Given the description of an element on the screen output the (x, y) to click on. 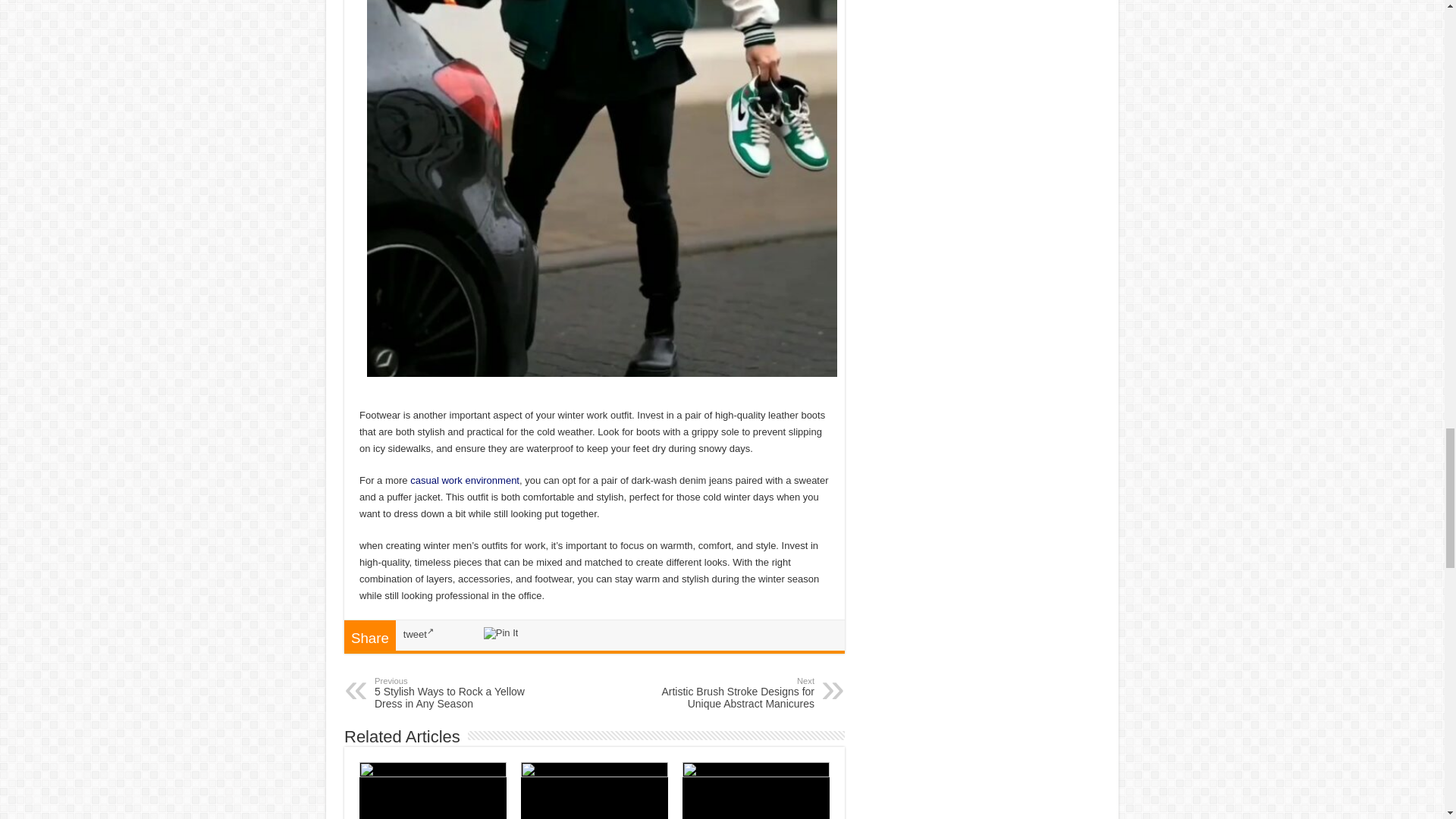
tweet (418, 633)
Pin It (500, 633)
casual work environment (464, 480)
Stylish and Professional Men's Work Attire (451, 693)
Stylish Winter Attire for Men in the Workplace (464, 480)
